Given the description of an element on the screen output the (x, y) to click on. 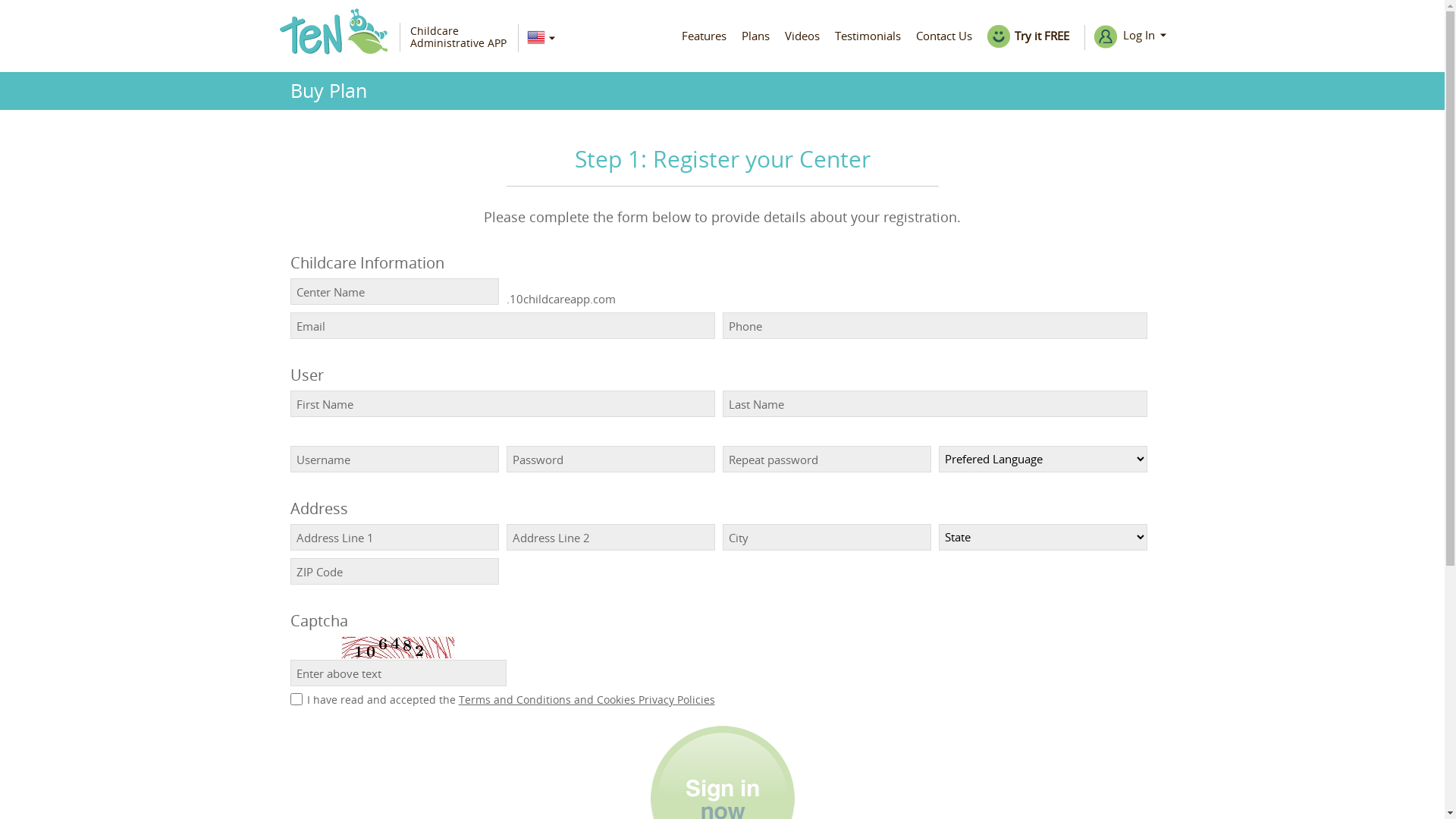
Testimonials Element type: text (867, 33)
Features Element type: text (702, 33)
Videos Element type: text (801, 33)
Log In Element type: text (1125, 37)
Terms and Conditions and Cookies Privacy Policies Element type: text (586, 699)
Try it FREE Element type: text (1028, 36)
Plans Element type: text (755, 33)
Contact Us Element type: text (944, 33)
